Given the description of an element on the screen output the (x, y) to click on. 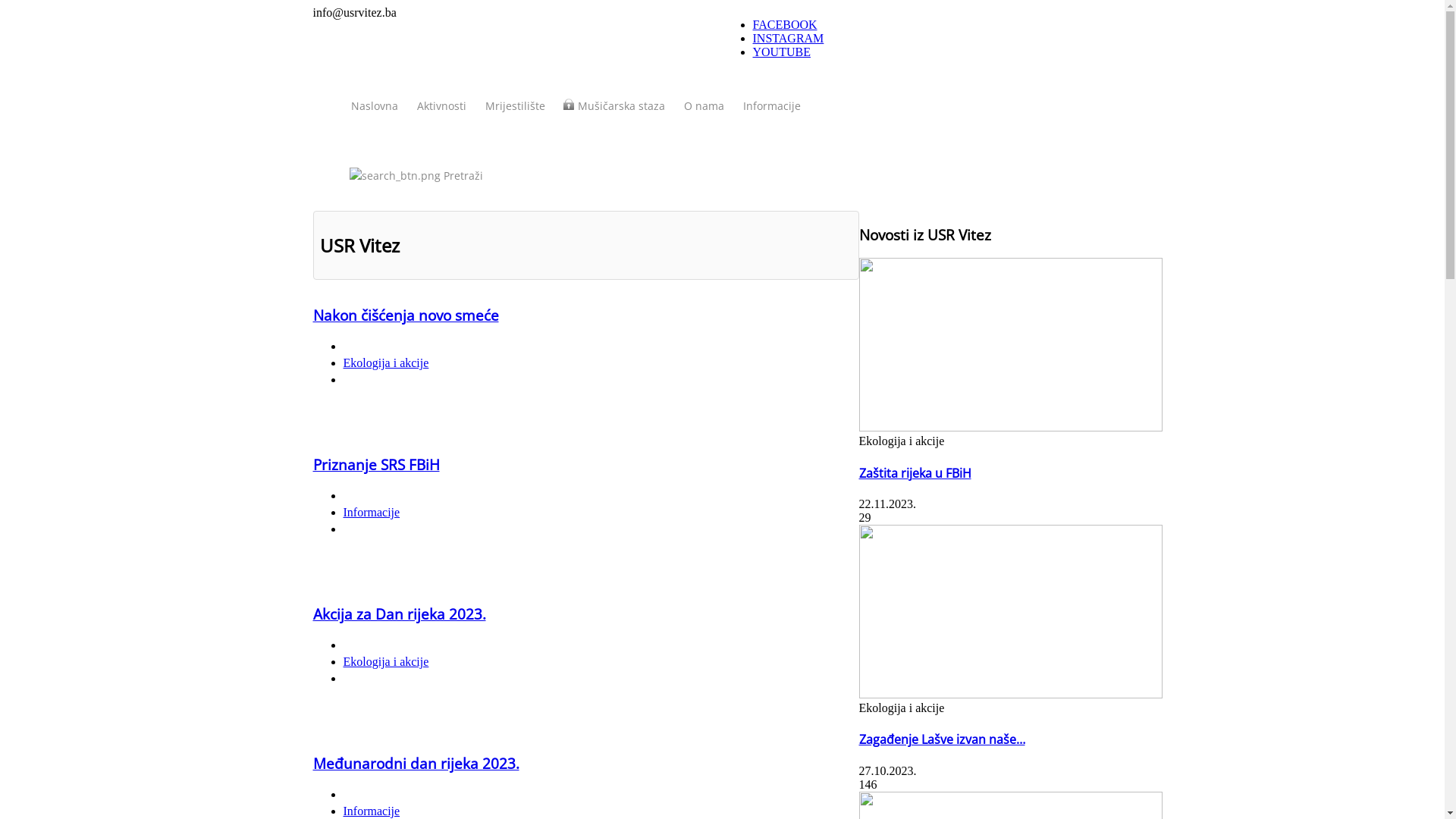
O nama Element type: text (703, 106)
Ekologija i akcije Element type: text (385, 362)
Priznanje SRS FBiH Element type: text (375, 464)
FACEBOOK Element type: text (784, 24)
Informacije Element type: text (370, 810)
Aktivnosti Element type: text (441, 106)
Akcija za Dan rijeka 2023. Element type: text (398, 613)
Naslovna Element type: text (373, 106)
Informacije Element type: text (370, 511)
INSTAGRAM Element type: text (787, 37)
Informacije Element type: text (771, 106)
YOUTUBE Element type: text (780, 51)
Ekologija i akcije Element type: text (385, 661)
